Given the description of an element on the screen output the (x, y) to click on. 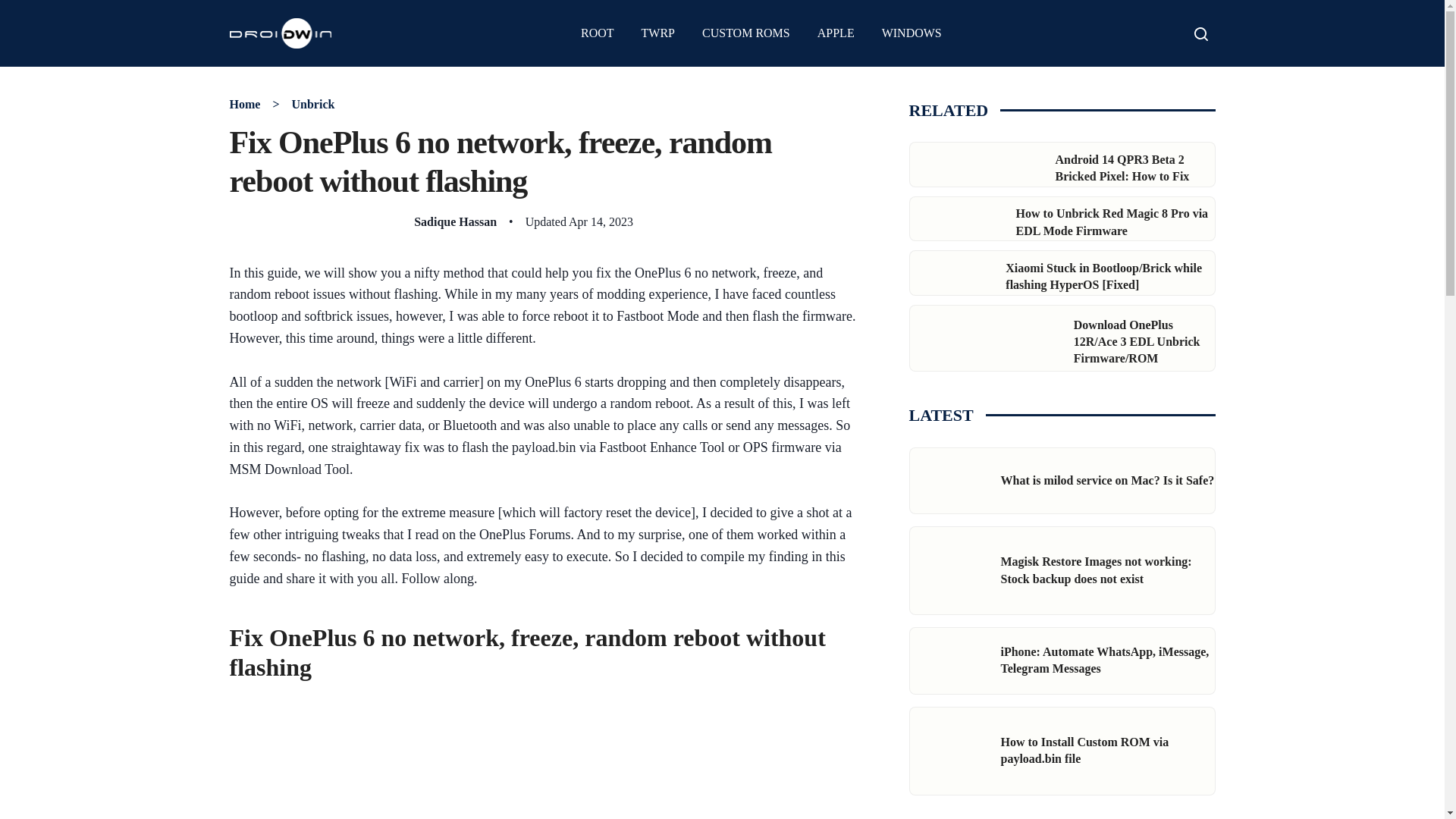
WINDOWS (912, 33)
APPLE (835, 33)
iPhone: Automate WhatsApp, iMessage, Telegram Messages (1105, 659)
Home (244, 103)
Sadique Hassan (454, 221)
What is milod service on Mac? Is it Safe? (1107, 480)
TWRP (658, 33)
Android 14 QPR3 Beta 2 Bricked Pixel: How to Fix (1121, 167)
CUSTOM ROMS (745, 33)
Droidwin (279, 33)
